Given the description of an element on the screen output the (x, y) to click on. 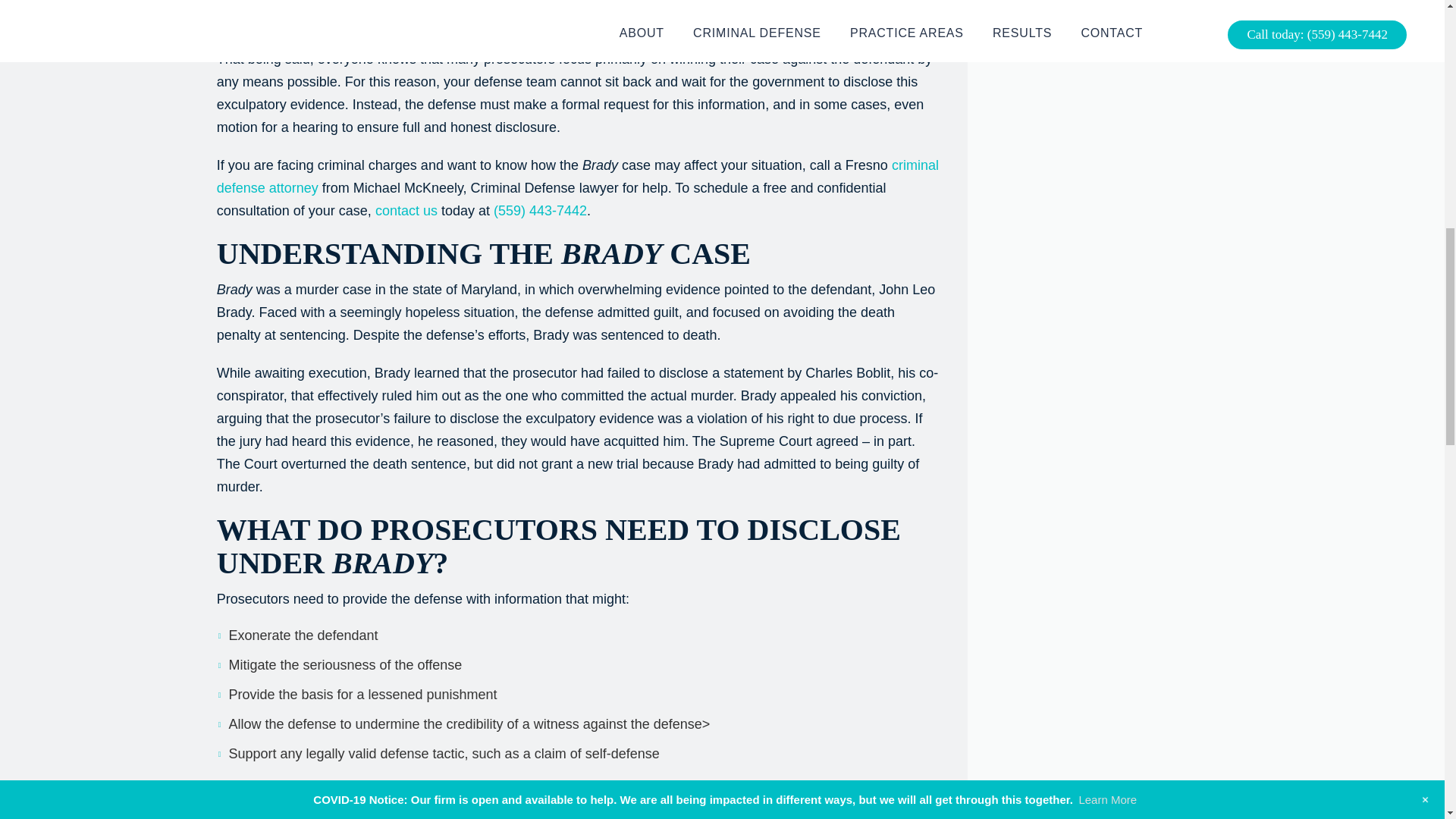
Contact Michael McKneely, Criminal Defense Lawyer (406, 210)
Call Michael McKneely, Criminal Defense Lawyer Today (539, 210)
contact us (406, 210)
California Criminal Defense Overview (577, 176)
criminal defense attorney (577, 176)
